Given the description of an element on the screen output the (x, y) to click on. 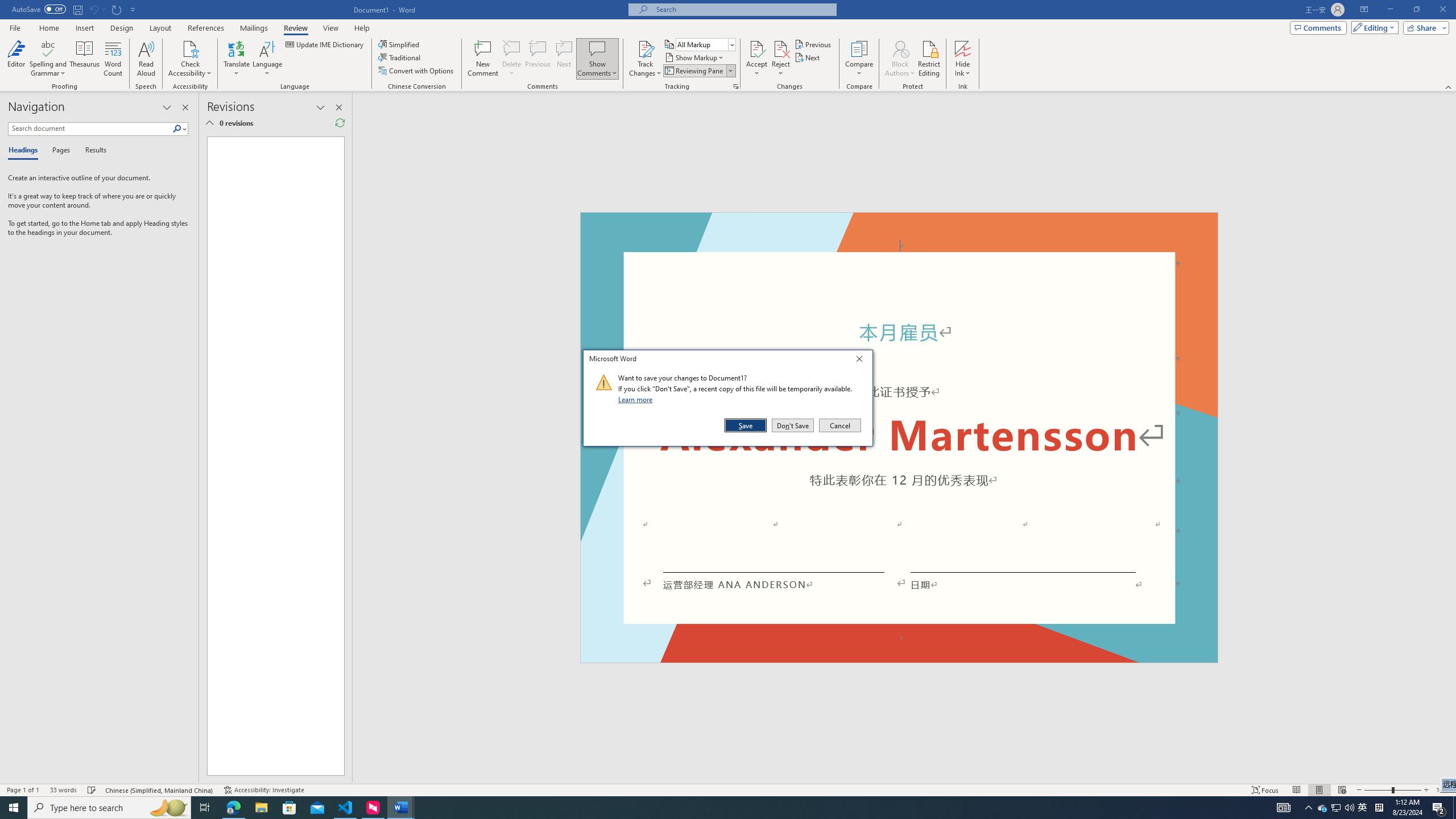
Spelling and Grammar (48, 58)
Microsoft search (742, 9)
Open (731, 44)
Running applications (700, 807)
Class: NetUIScrollBar (1450, 437)
Can't Undo (96, 9)
Page 1 content (271, 455)
Notification Chevron (1308, 807)
Spelling and Grammar Check Checking (91, 790)
